Given the description of an element on the screen output the (x, y) to click on. 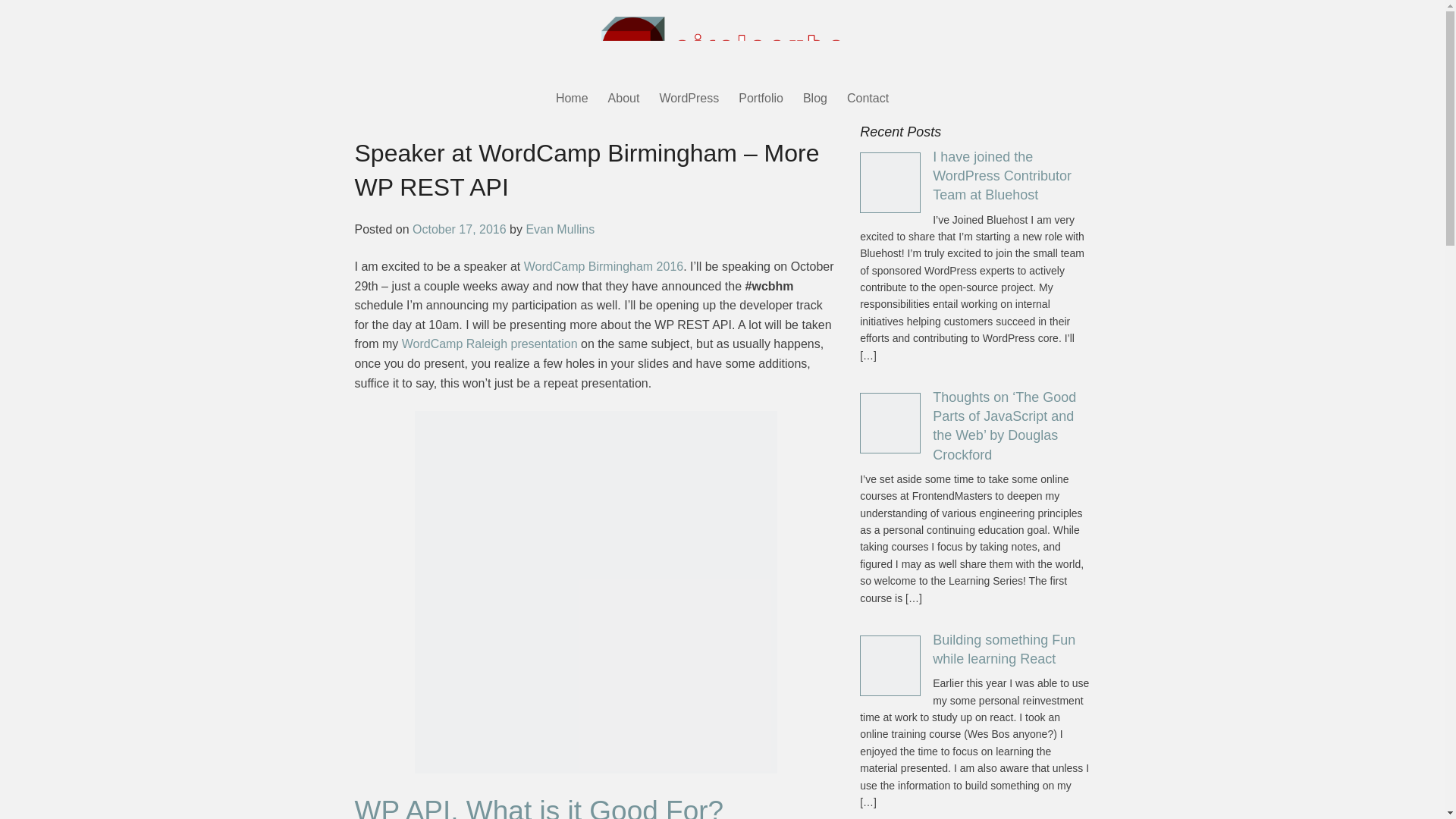
Home (572, 100)
circlecube (721, 43)
WordCamp Raleigh presentation (489, 343)
WP API, What is it Good For? Absolutely Everything! (539, 807)
October 17, 2016 (459, 228)
Building something Fun while learning React (1004, 649)
I have joined the WordPress Contributor Team at Bluehost (1002, 175)
Portfolio (761, 100)
Contact (867, 100)
WordPress (689, 100)
